Given the description of an element on the screen output the (x, y) to click on. 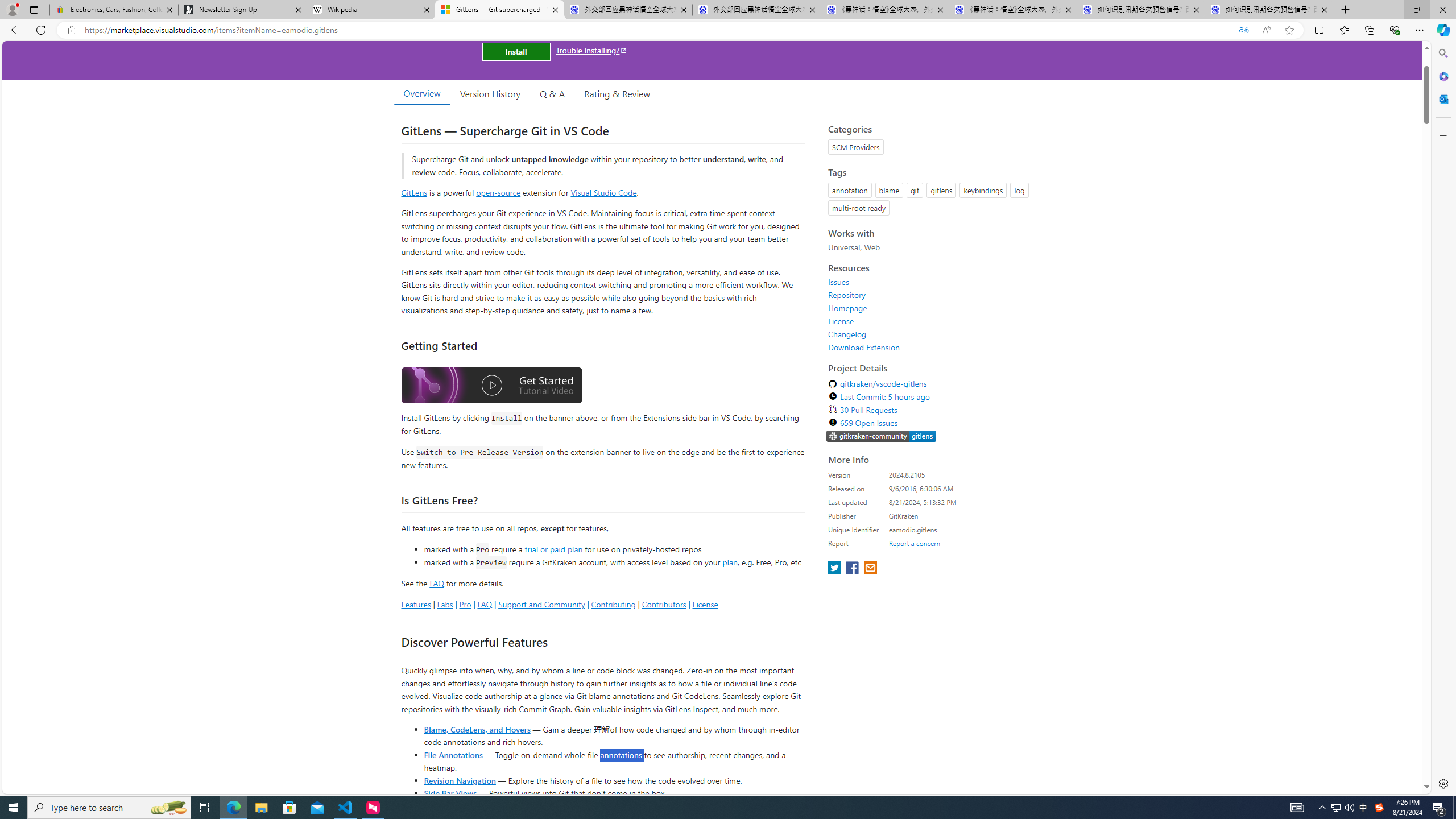
Translated (1243, 29)
Q & A (552, 92)
Issues (931, 281)
Homepage (931, 307)
Homepage (847, 307)
open-source (498, 192)
Changelog (931, 333)
Rating & Review (618, 92)
